Given the description of an element on the screen output the (x, y) to click on. 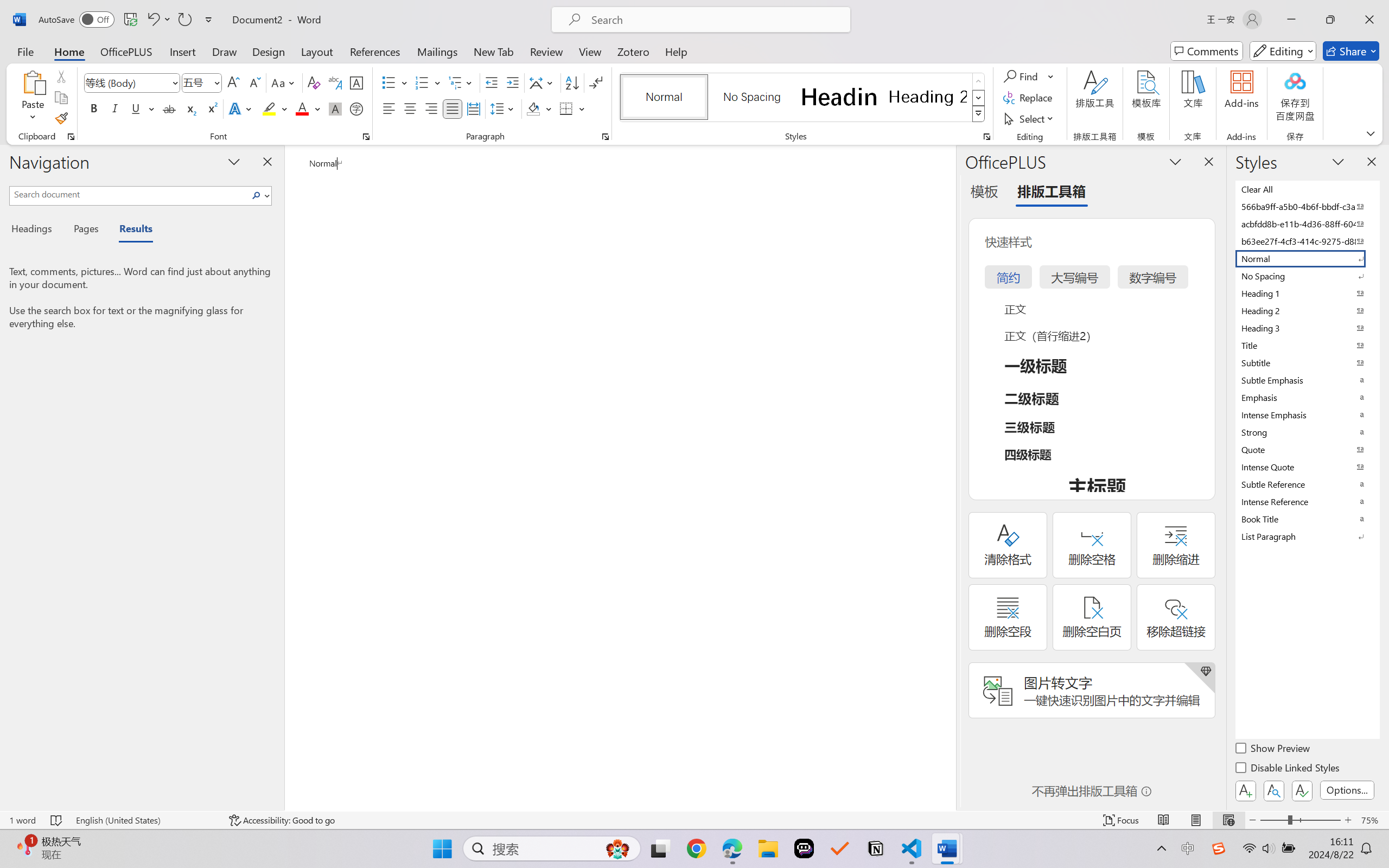
Review (546, 51)
Character Shading (334, 108)
